Given the description of an element on the screen output the (x, y) to click on. 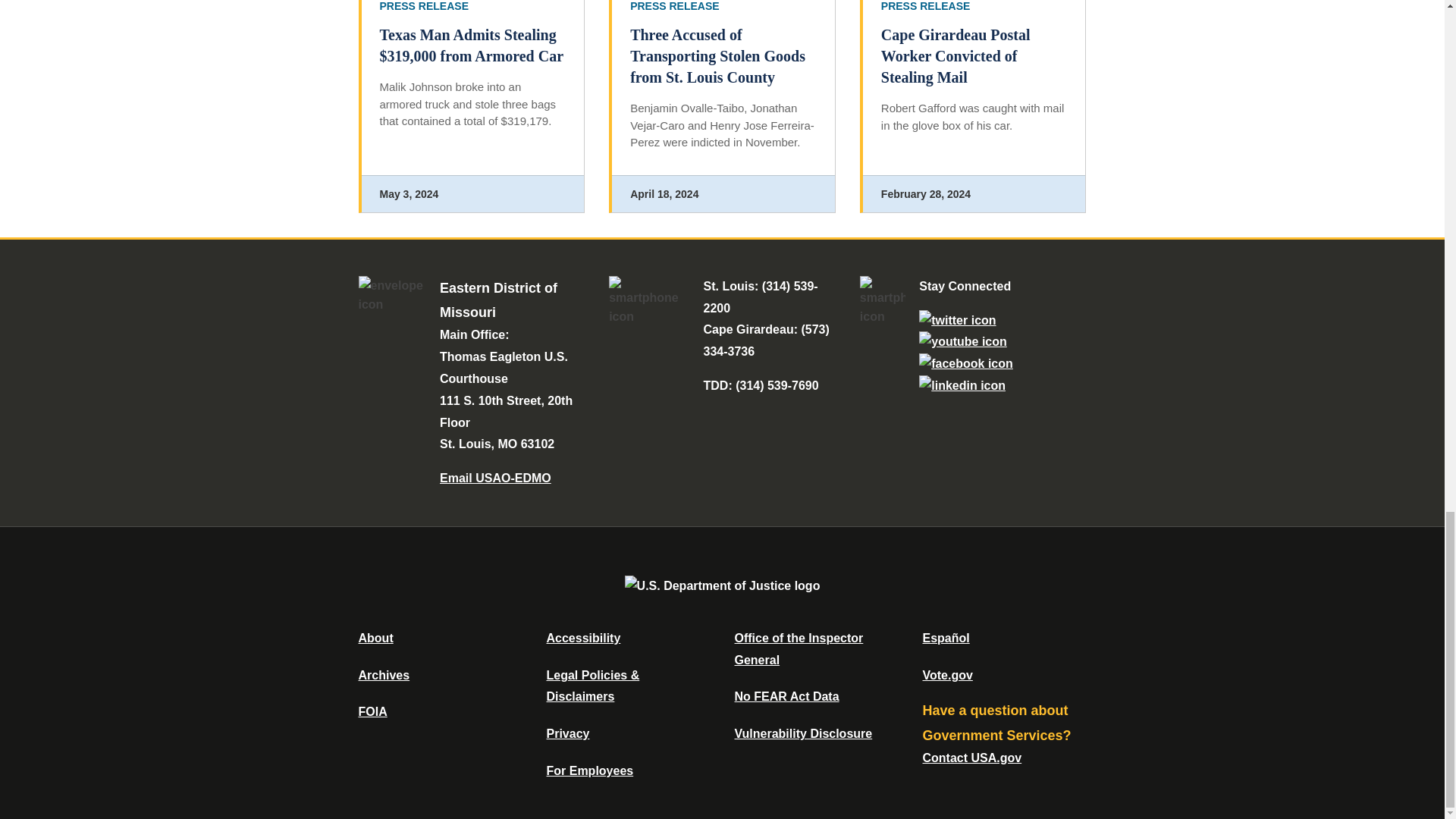
For Employees (589, 770)
Data Posted Pursuant To The No Fear Act (785, 696)
Accessibility Statement (583, 637)
Legal Policies and Disclaimers (592, 686)
Department of Justice Archive (383, 675)
Office of Information Policy (372, 711)
About DOJ (375, 637)
